Given the description of an element on the screen output the (x, y) to click on. 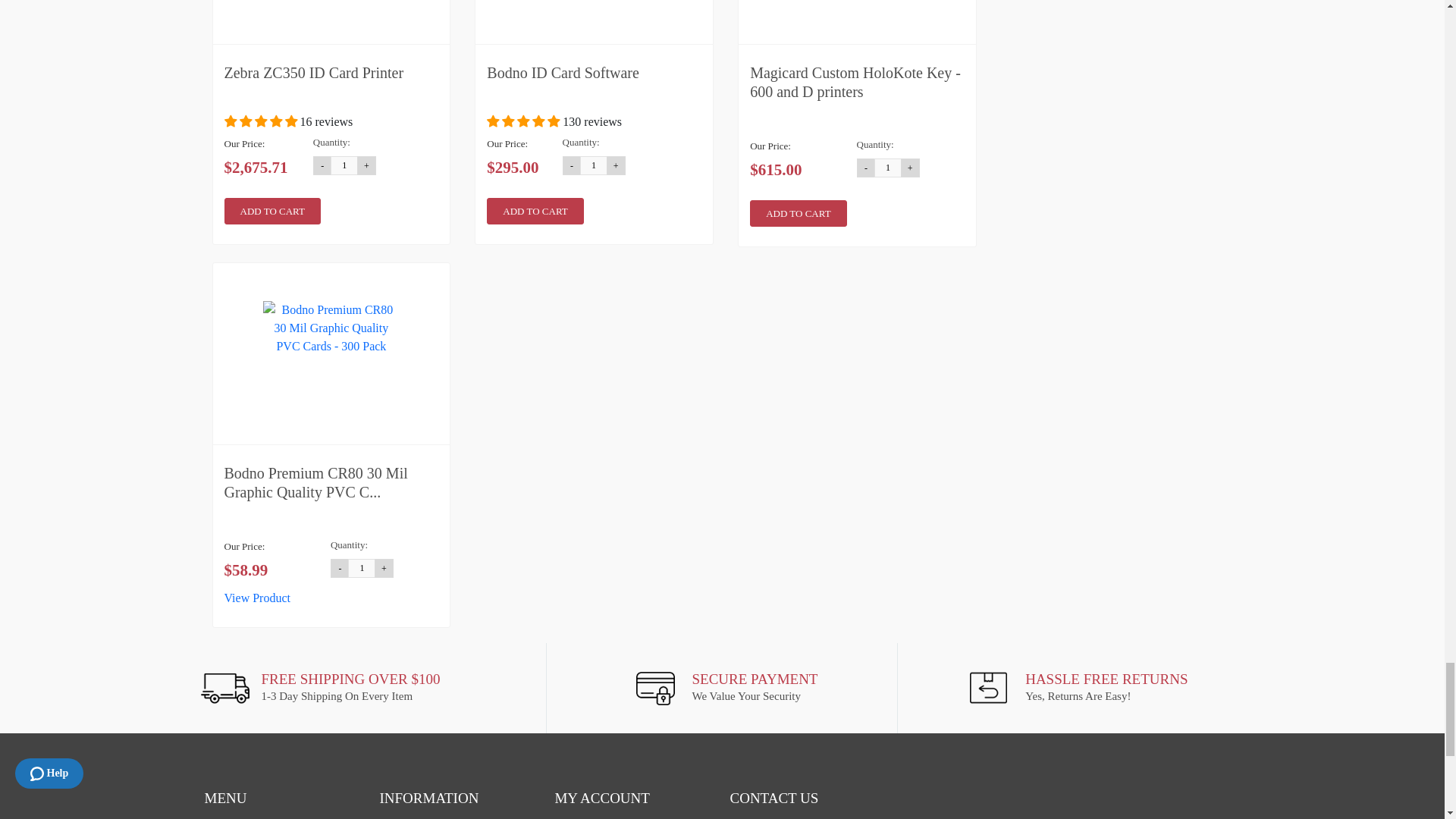
1 (593, 165)
Qty (344, 165)
Qty (593, 165)
Qty (361, 568)
1 (344, 165)
Qty (888, 167)
1 (888, 167)
1 (361, 568)
